Given the description of an element on the screen output the (x, y) to click on. 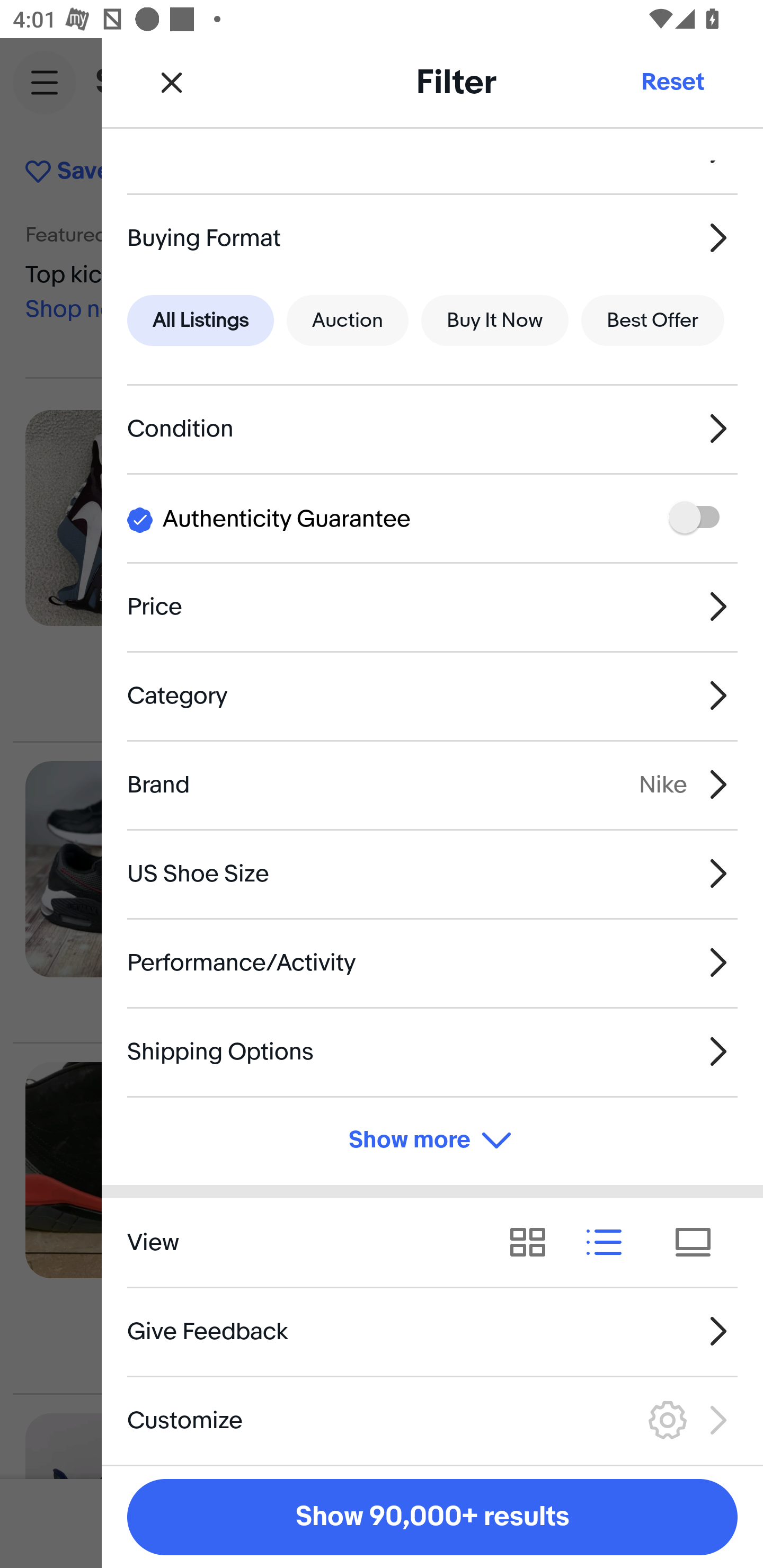
Close Filter (171, 81)
Reset (672, 81)
Buying Format (432, 237)
All Listings (200, 320)
Auction (347, 320)
Buy It Now (494, 320)
Best Offer (652, 320)
Condition (432, 428)
I  Authenticity Guarantee (432, 517)
Price (432, 605)
Category (432, 695)
Brand Nike (432, 784)
US Shoe Size (432, 873)
Performance/Activity (432, 961)
Shipping Options (432, 1051)
Show more (432, 1140)
View results as grid (533, 1242)
View results as list (610, 1242)
View results as tiles (699, 1242)
Customize (432, 1419)
Show 90,000+ results (432, 1516)
